Given the description of an element on the screen output the (x, y) to click on. 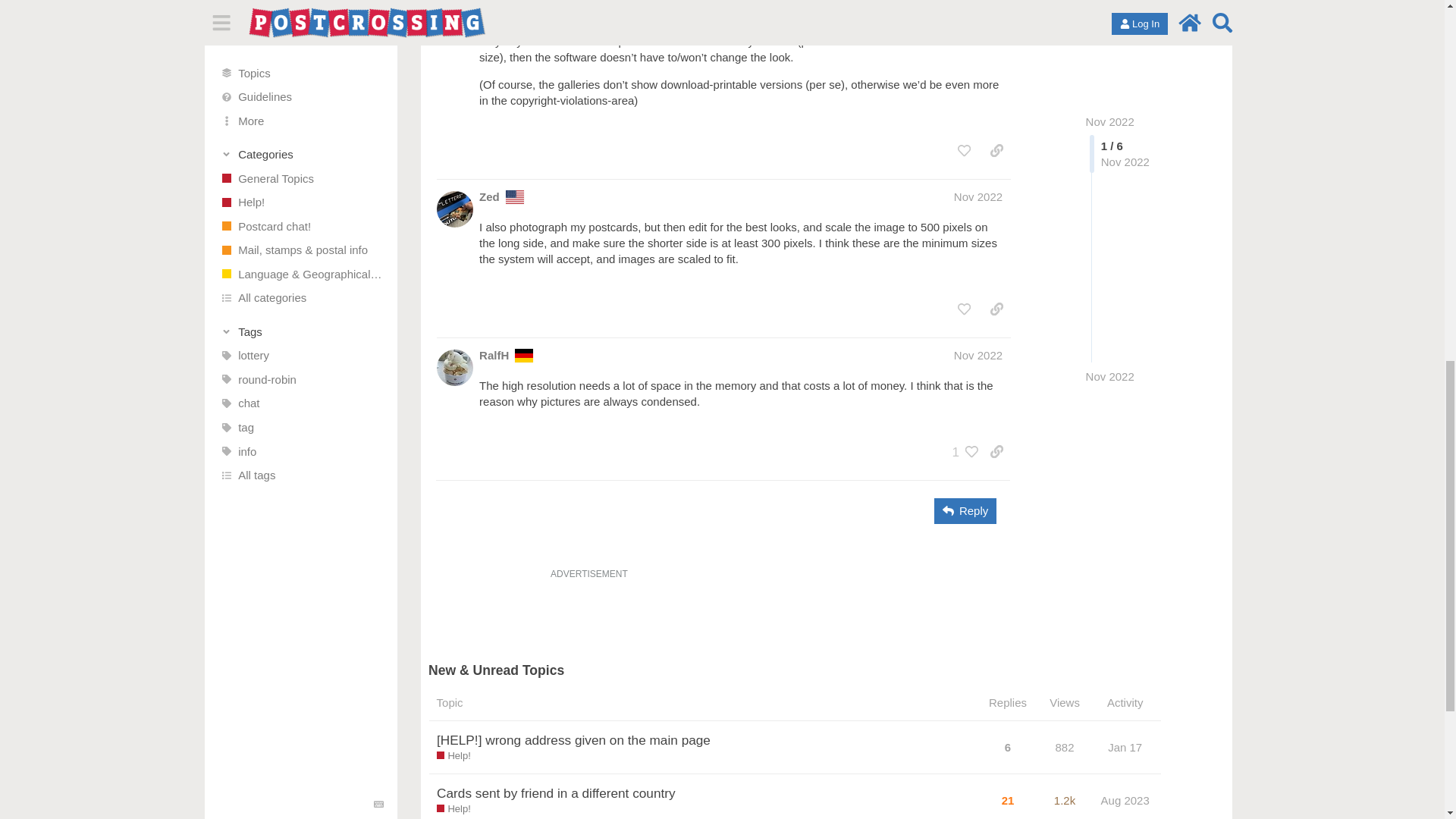
Keyboard Shortcuts (378, 1)
